Given the description of an element on the screen output the (x, y) to click on. 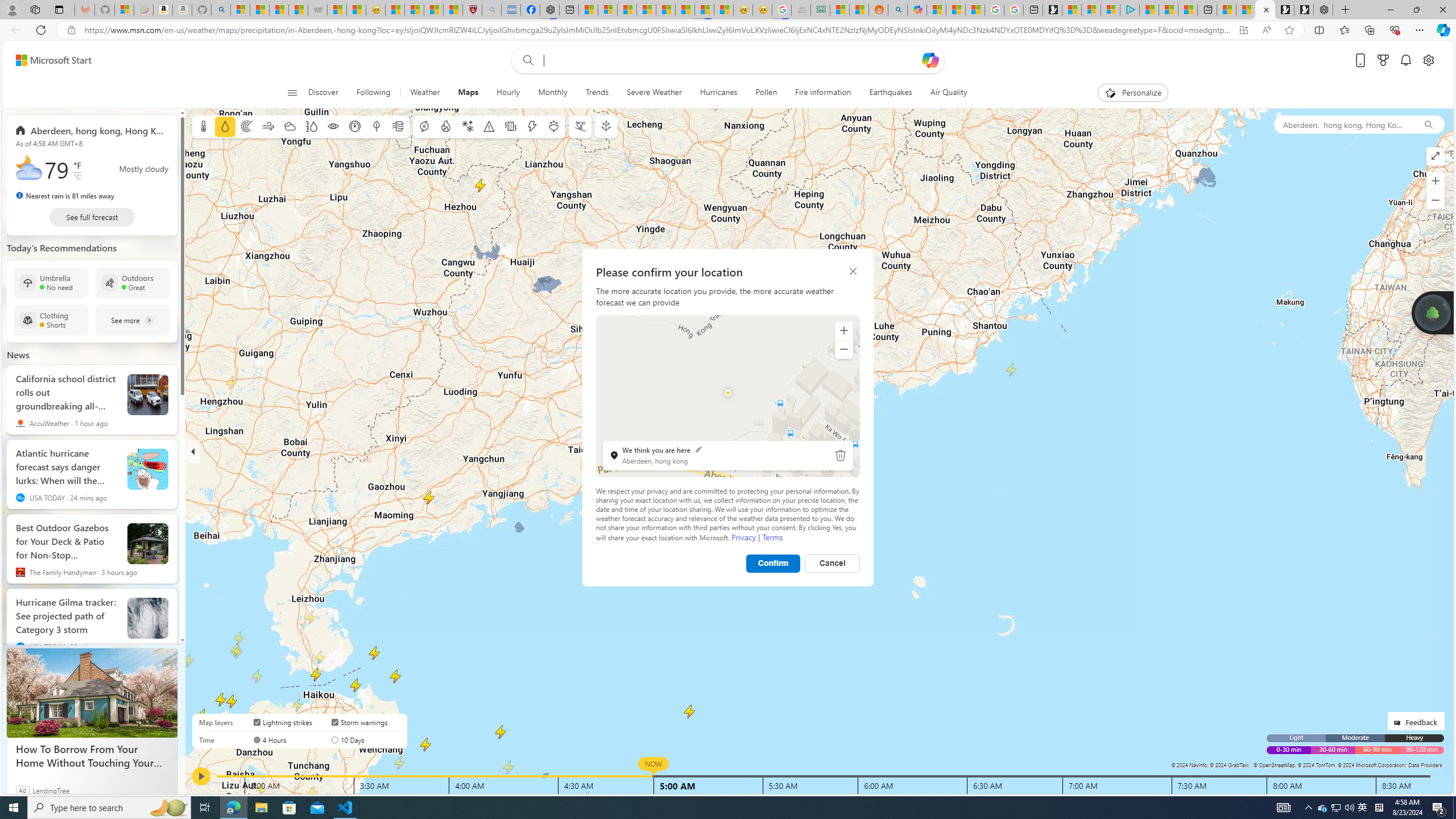
See more (133, 319)
LendingTree (50, 790)
Winter weather (467, 126)
Zoom in (843, 330)
Aberdeen, hong kong, Hong Kong SAR (1342, 124)
Microsoft Start (53, 60)
Microsoft Copilot in Bing (916, 9)
Ski conditions (579, 126)
Clouds (289, 126)
Clothing Shorts (50, 319)
Join us in planting real trees to help our planet! (1431, 312)
